Given the description of an element on the screen output the (x, y) to click on. 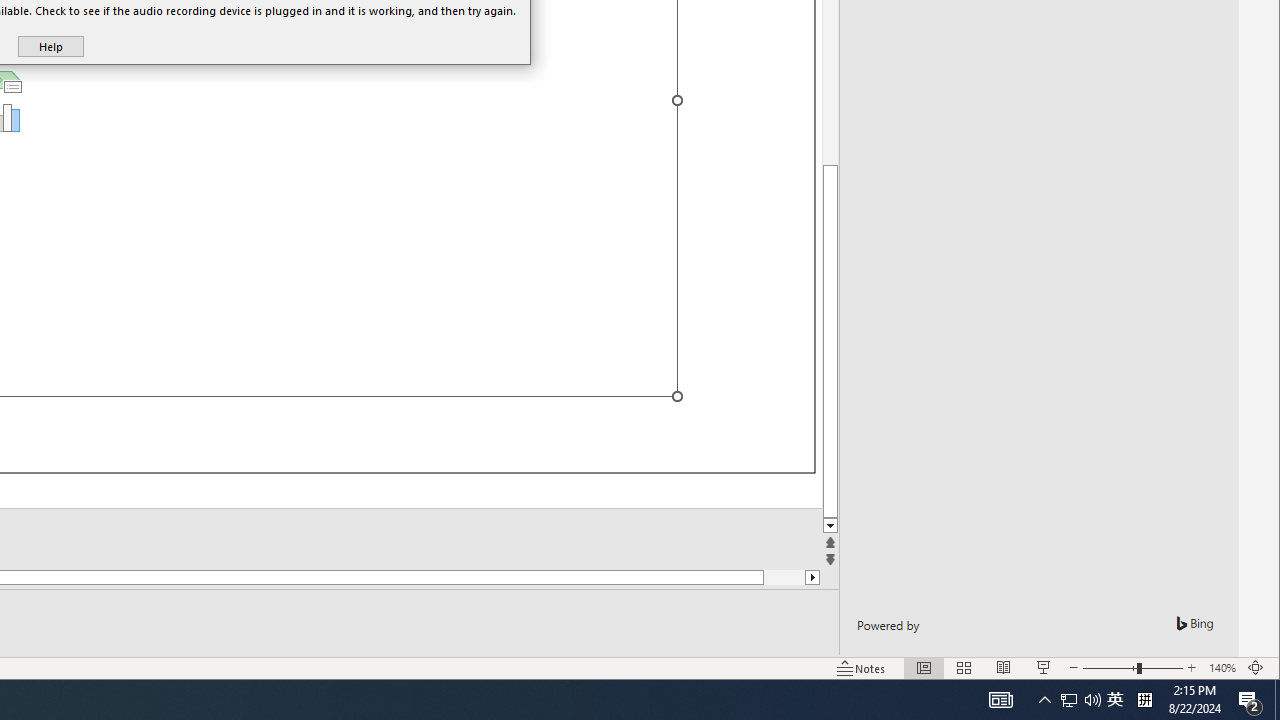
Zoom 140% (1222, 668)
Action Center, 2 new notifications (1250, 699)
